Given the description of an element on the screen output the (x, y) to click on. 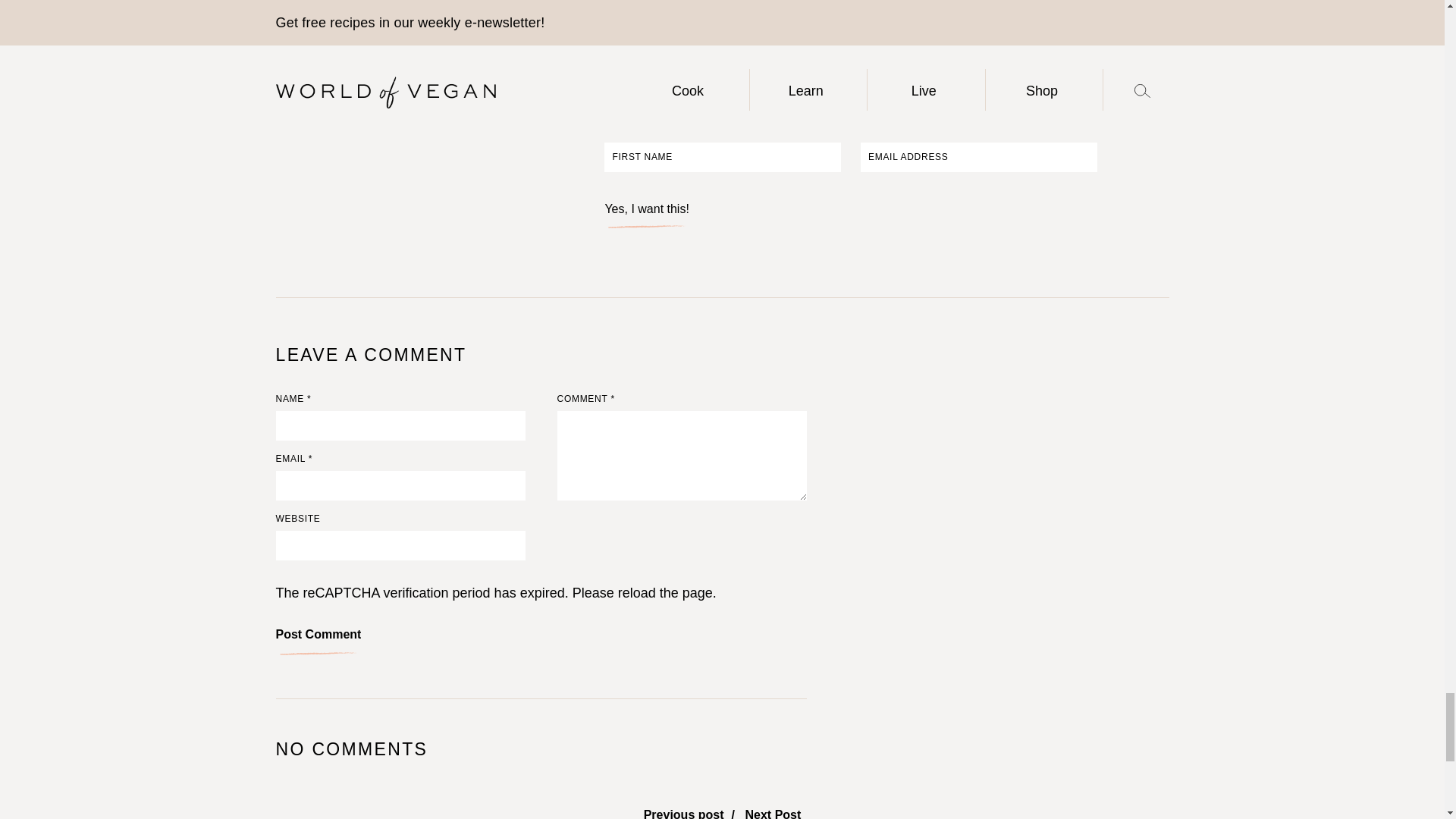
Post Comment (318, 640)
